Given the description of an element on the screen output the (x, y) to click on. 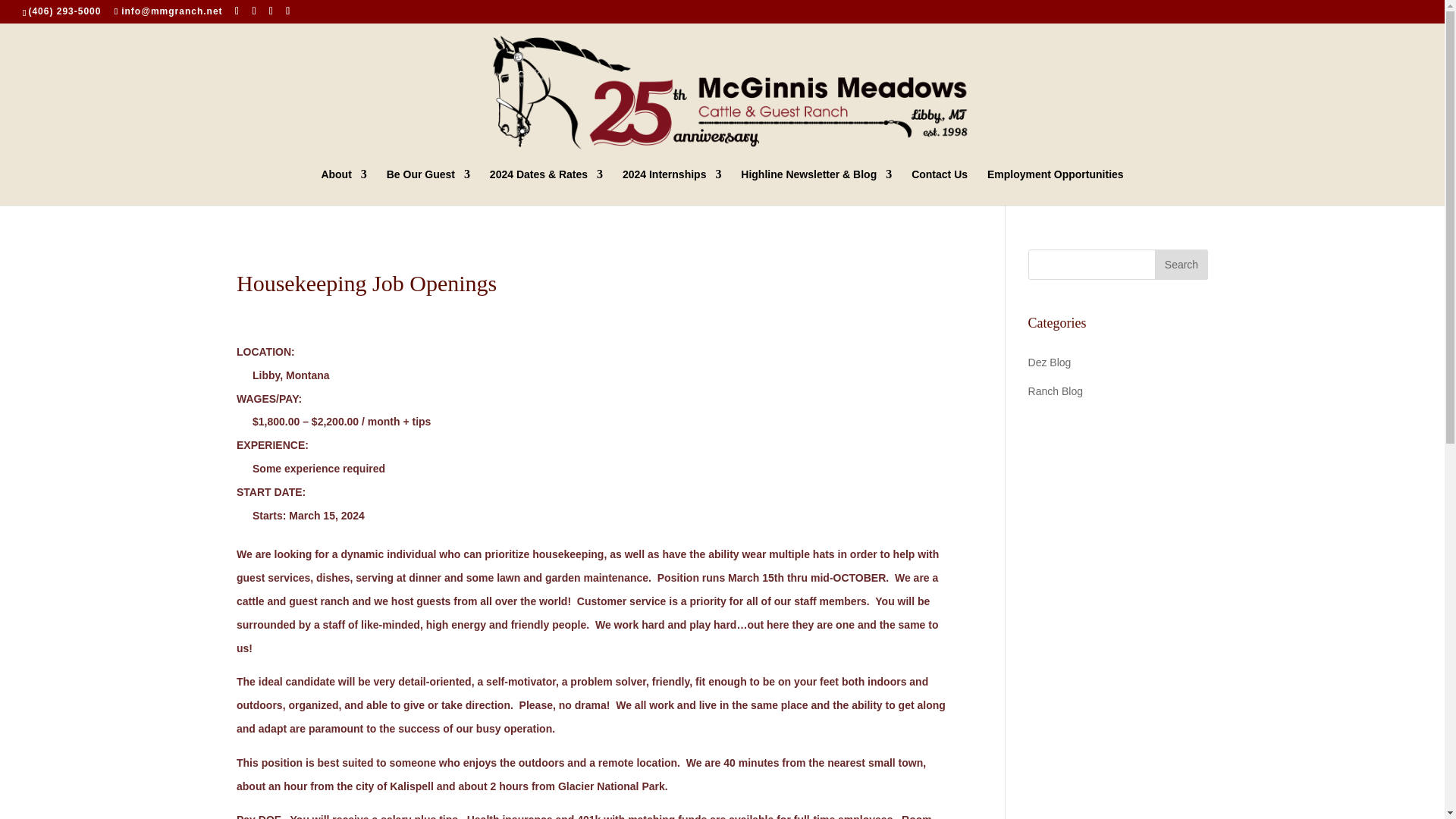
About (343, 186)
Contact Us (939, 186)
Be Our Guest (428, 186)
Employment Opportunities (1055, 186)
2024 Internships (672, 186)
Search (1181, 264)
